Given the description of an element on the screen output the (x, y) to click on. 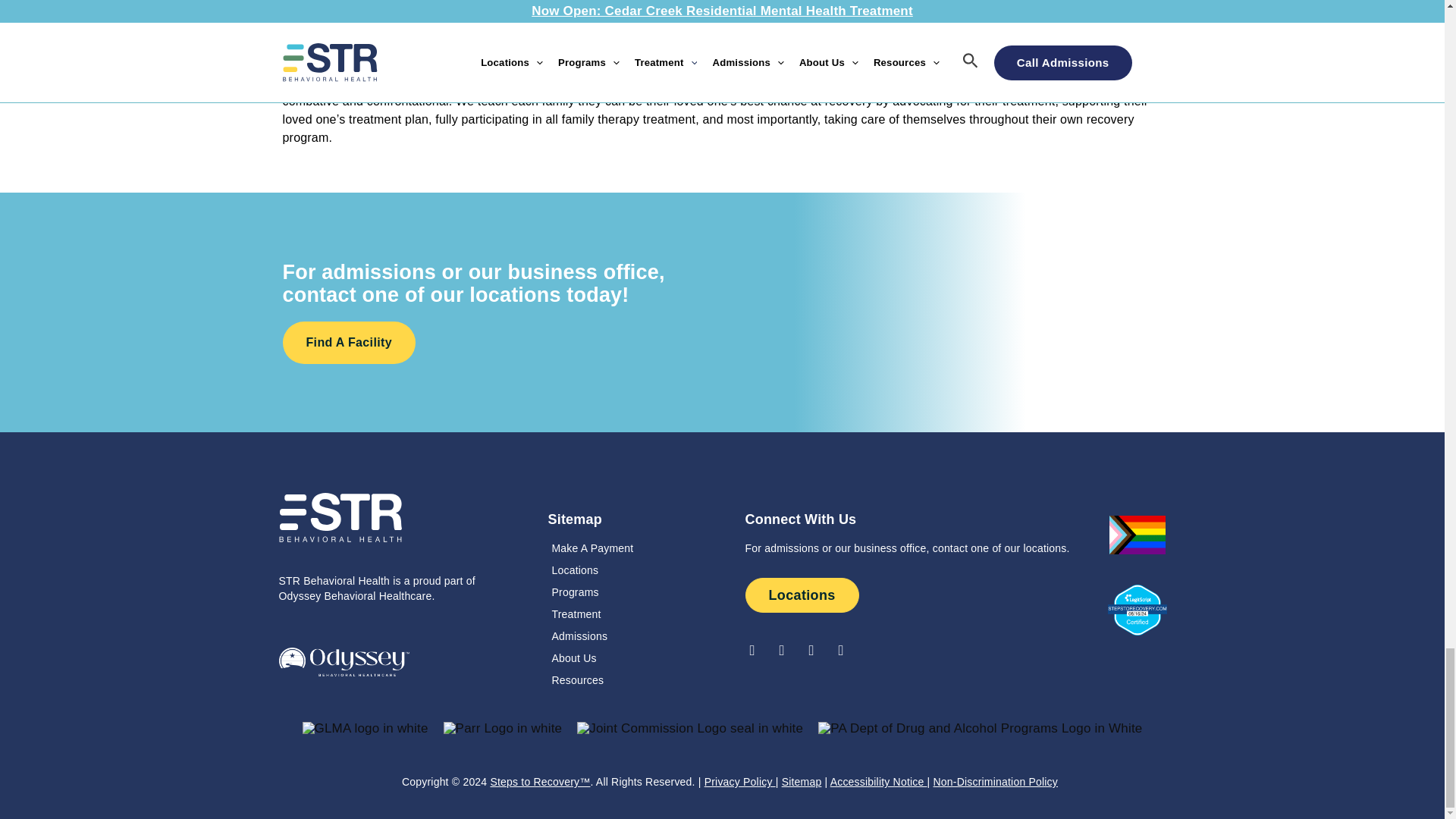
parr-logo (503, 728)
PA-Department-Drug-Alcohol-Programs-Logo-White (979, 728)
Verify LegitScript Approval (1137, 608)
glma-white (365, 728)
